Given the description of an element on the screen output the (x, y) to click on. 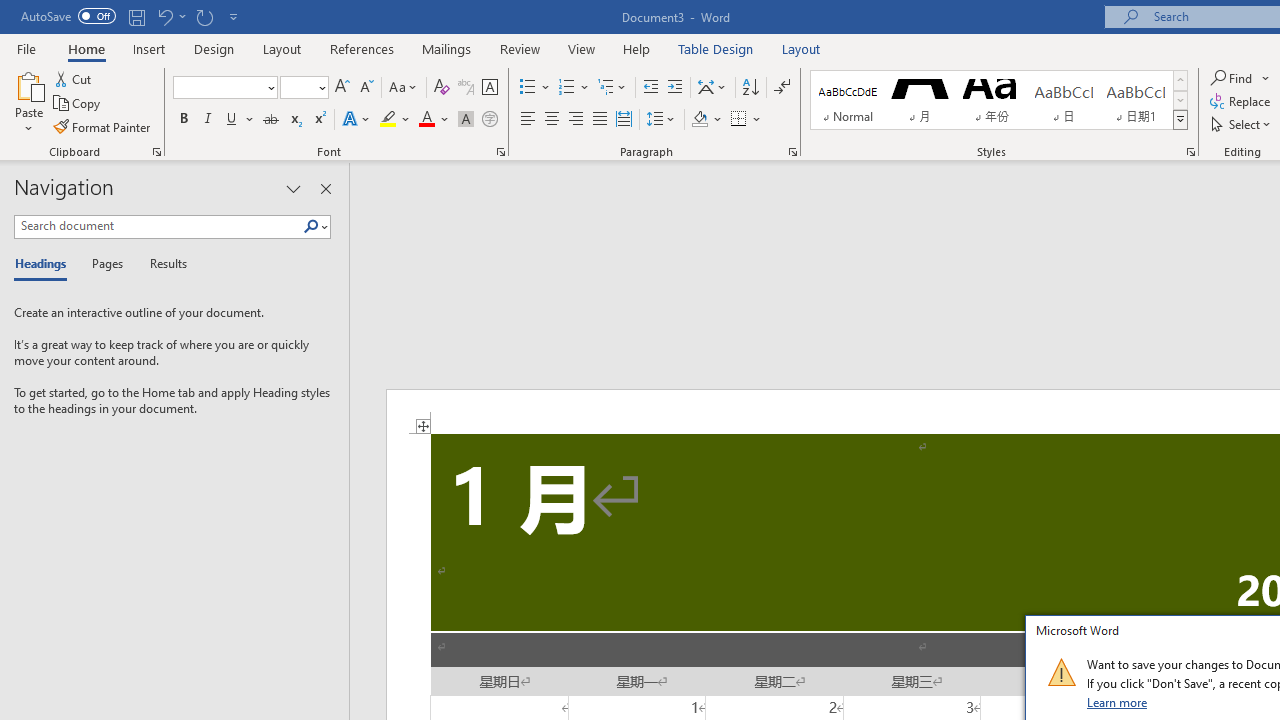
Show/Hide Editing Marks (781, 87)
Open (320, 87)
Bullets (527, 87)
Enclose Characters... (489, 119)
Select (1242, 124)
Bullets (535, 87)
Increase Indent (675, 87)
Center (552, 119)
Borders (746, 119)
Styles... (1190, 151)
Search document (157, 226)
Text Highlight Color Yellow (388, 119)
Undo Apply Quick Style (164, 15)
Help (637, 48)
